Given the description of an element on the screen output the (x, y) to click on. 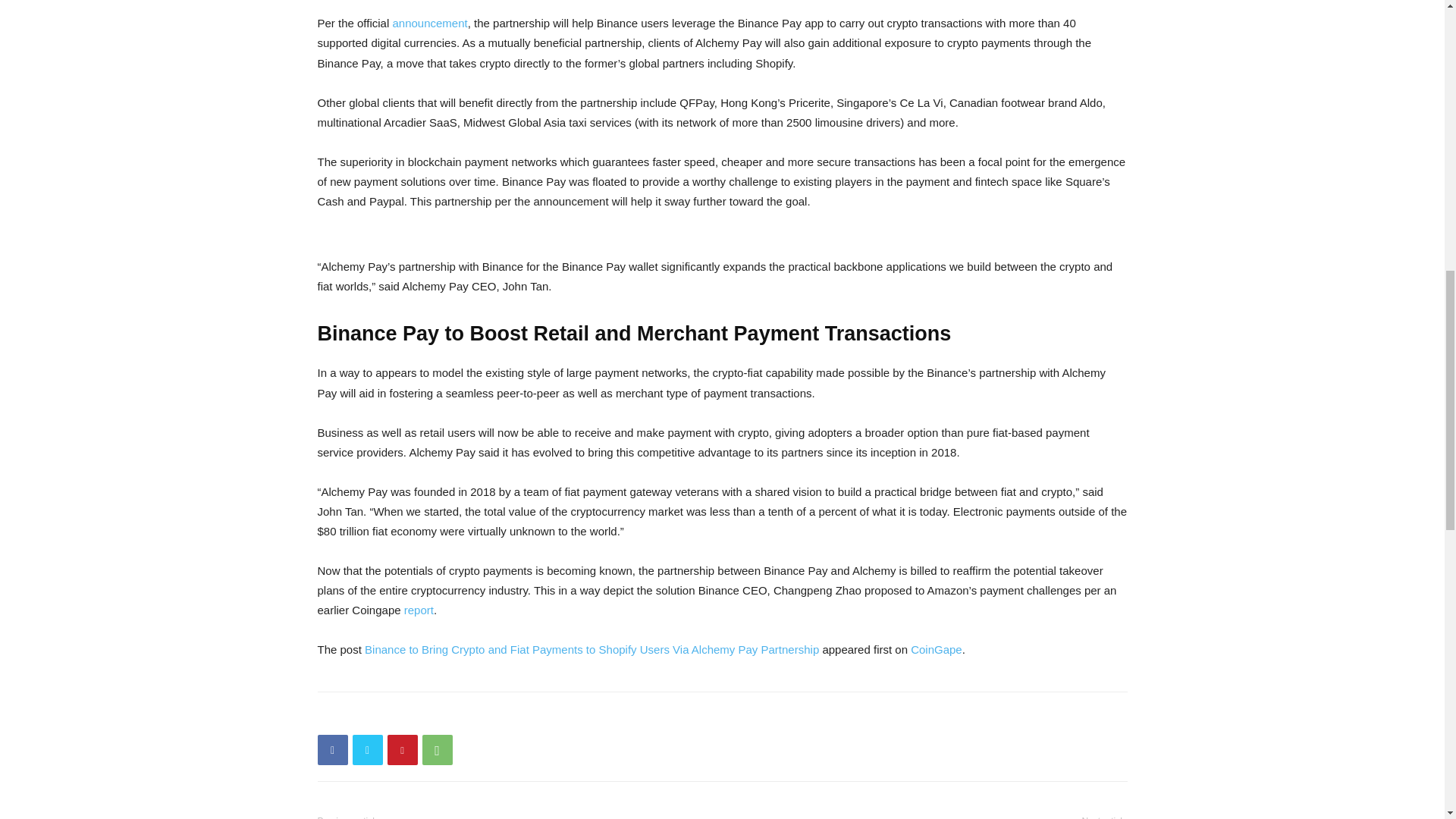
bottomFacebookLike (430, 715)
Facebook (332, 749)
announcement (429, 22)
Twitter (366, 749)
report (418, 609)
Pinterest (401, 749)
WhatsApp (436, 749)
CoinGape (936, 649)
